Given the description of an element on the screen output the (x, y) to click on. 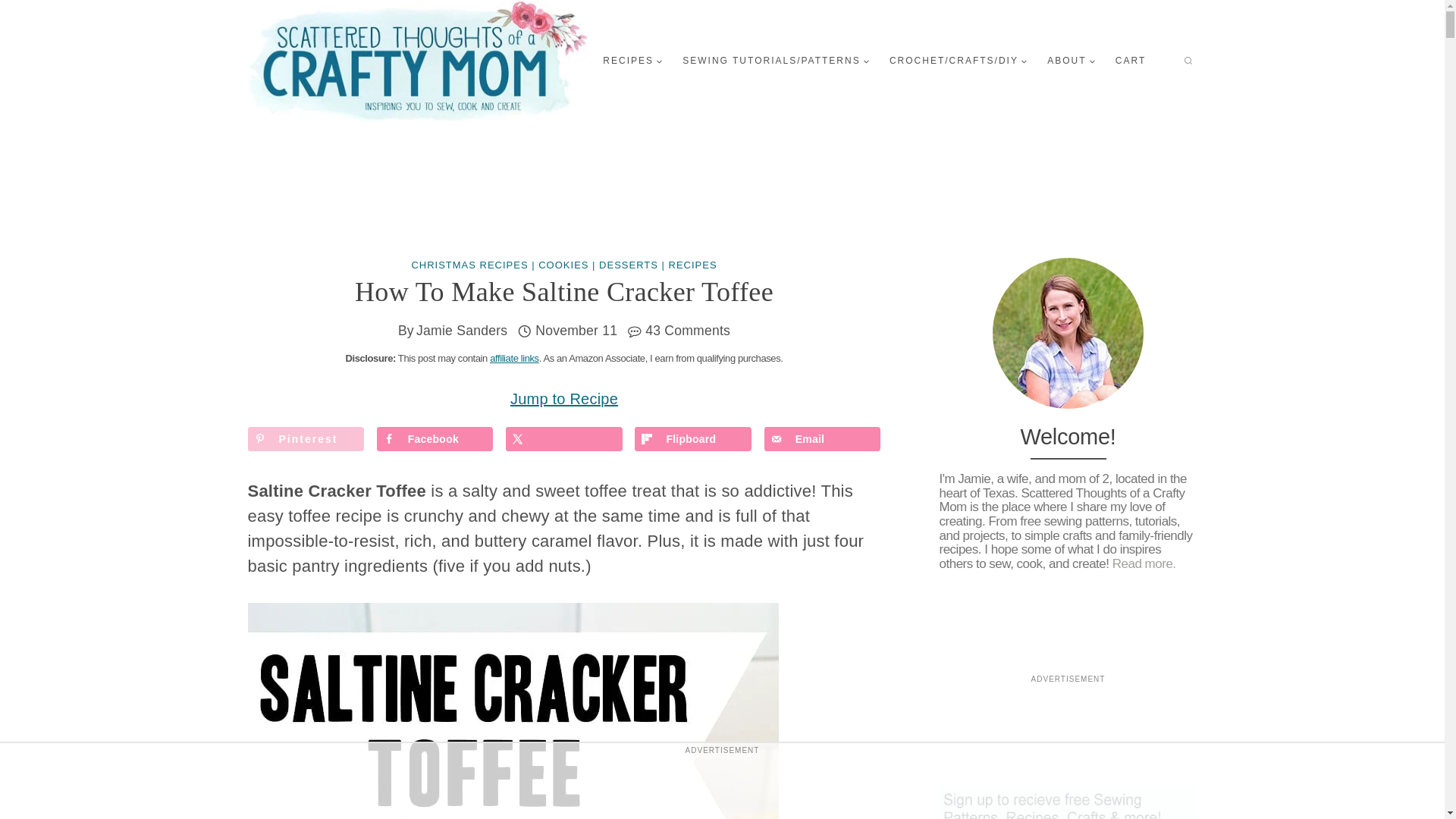
Jump to Recipe (564, 398)
ABOUT (1071, 60)
Share on X (564, 438)
Save to Pinterest (305, 438)
Send over email (822, 438)
Share on Flipboard (692, 438)
Share on Facebook (435, 438)
43 Comments (687, 330)
RECIPES (631, 60)
CART (1130, 60)
